Given the description of an element on the screen output the (x, y) to click on. 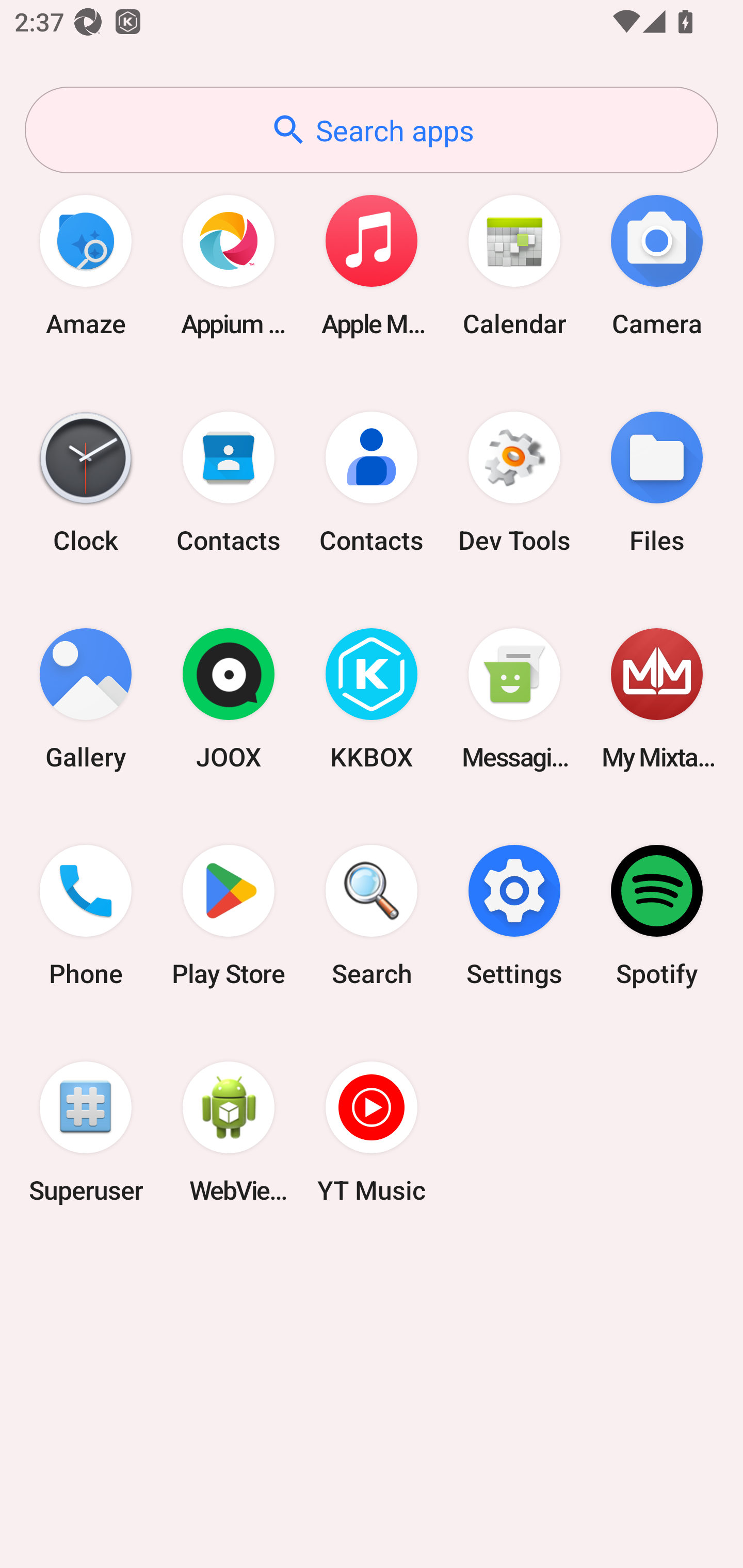
  Search apps (371, 130)
Amaze (85, 264)
Appium Settings (228, 264)
Apple Music (371, 264)
Calendar (514, 264)
Camera (656, 264)
Clock (85, 482)
Contacts (228, 482)
Contacts (371, 482)
Dev Tools (514, 482)
Files (656, 482)
Gallery (85, 699)
JOOX (228, 699)
KKBOX (371, 699)
Messaging (514, 699)
My Mixtapez (656, 699)
Phone (85, 915)
Play Store (228, 915)
Search (371, 915)
Settings (514, 915)
Spotify (656, 915)
Superuser (85, 1131)
WebView Browser Tester (228, 1131)
YT Music (371, 1131)
